Given the description of an element on the screen output the (x, y) to click on. 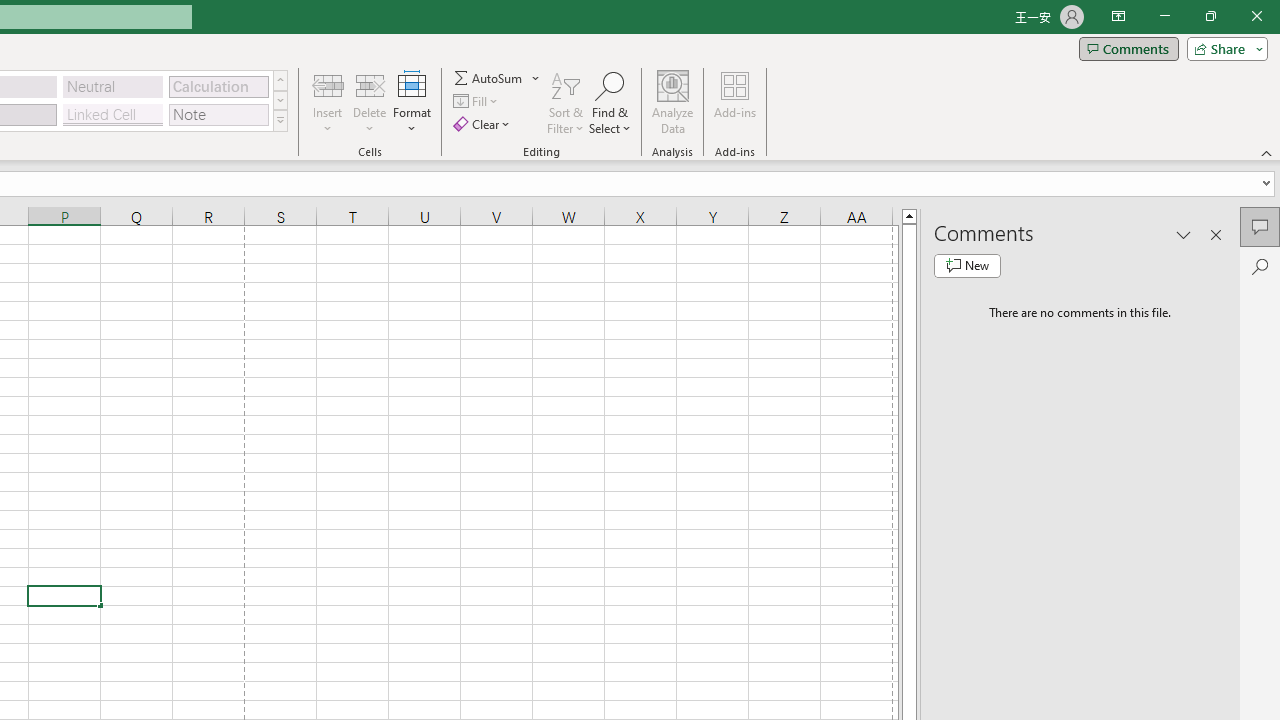
New comment (967, 265)
Neutral (113, 86)
Delete Cells... (369, 84)
Note (218, 114)
